Given the description of an element on the screen output the (x, y) to click on. 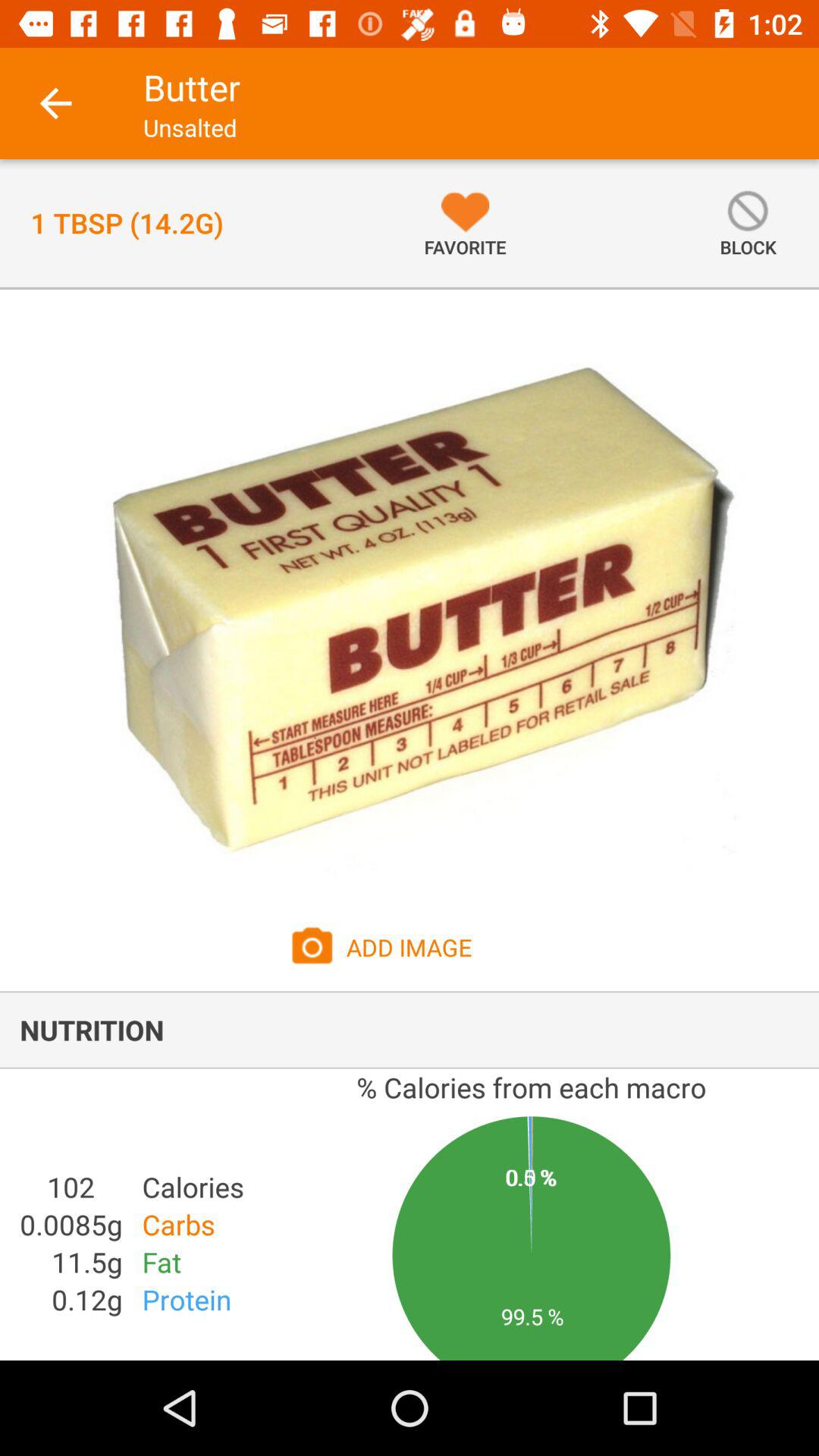
click the 1 tbsp 14 icon (126, 223)
